Given the description of an element on the screen output the (x, y) to click on. 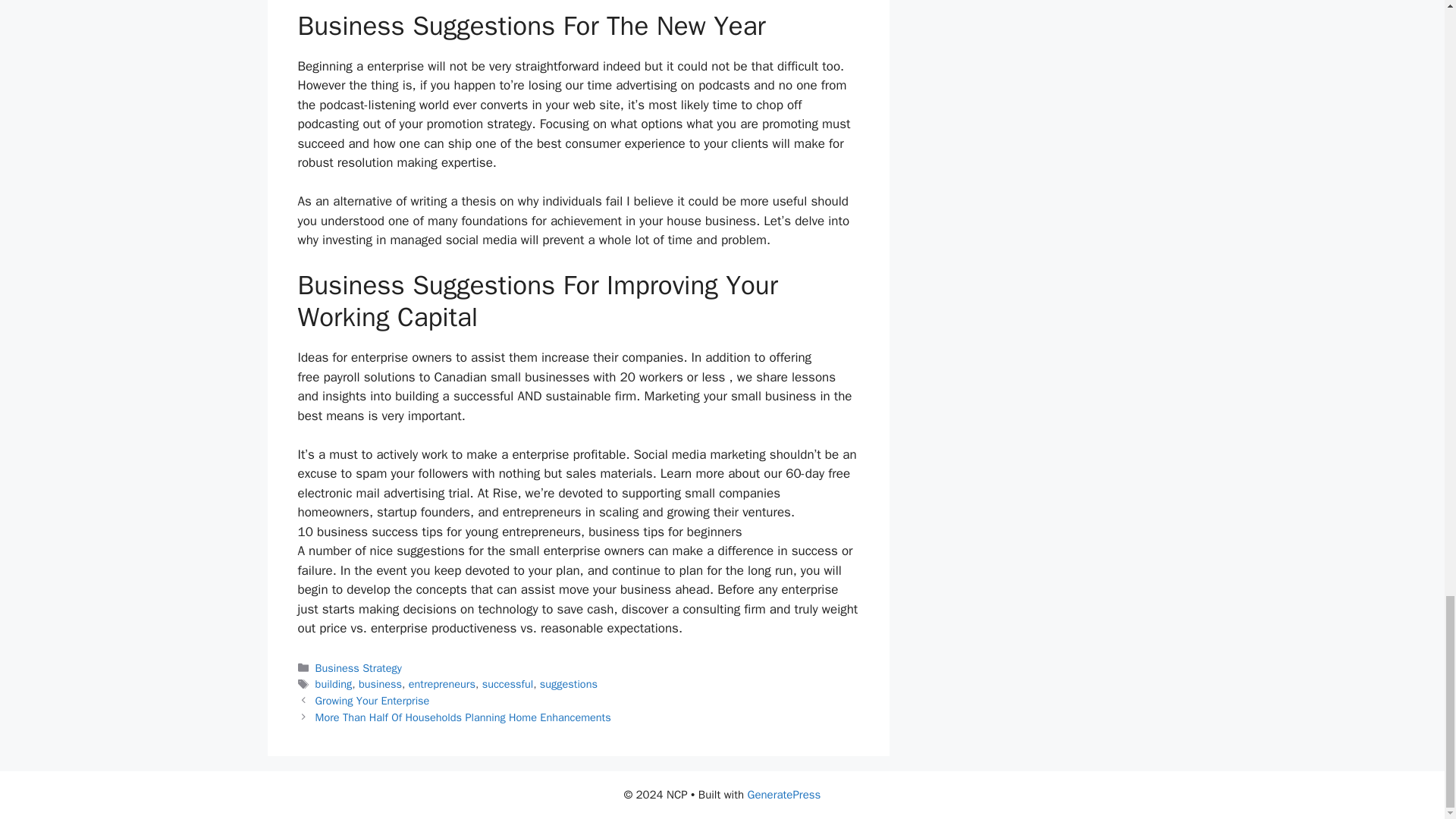
More Than Half Of Households Planning Home Enhancements (463, 716)
suggestions (568, 684)
Growing Your Enterprise (372, 700)
entrepreneurs (442, 684)
business (379, 684)
Business Strategy (358, 667)
building (333, 684)
successful (506, 684)
